Given the description of an element on the screen output the (x, y) to click on. 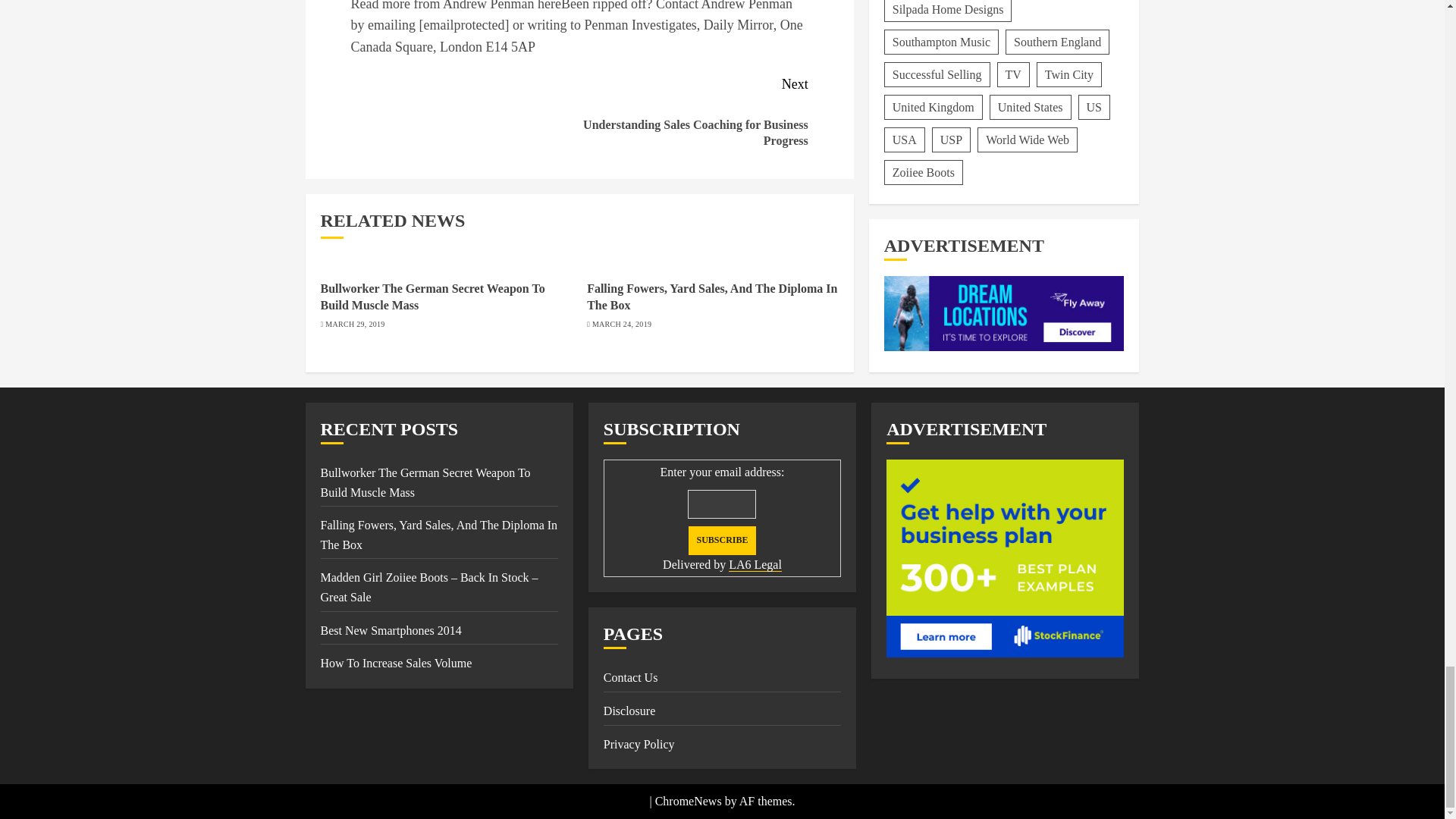
Falling Fowers, Yard Sales, And The Diploma In The Box (711, 296)
Bullworker The German Secret Weapon To Build Muscle Mass (432, 296)
MARCH 24, 2019 (621, 324)
Subscribe (721, 540)
MARCH 29, 2019 (354, 324)
